Given the description of an element on the screen output the (x, y) to click on. 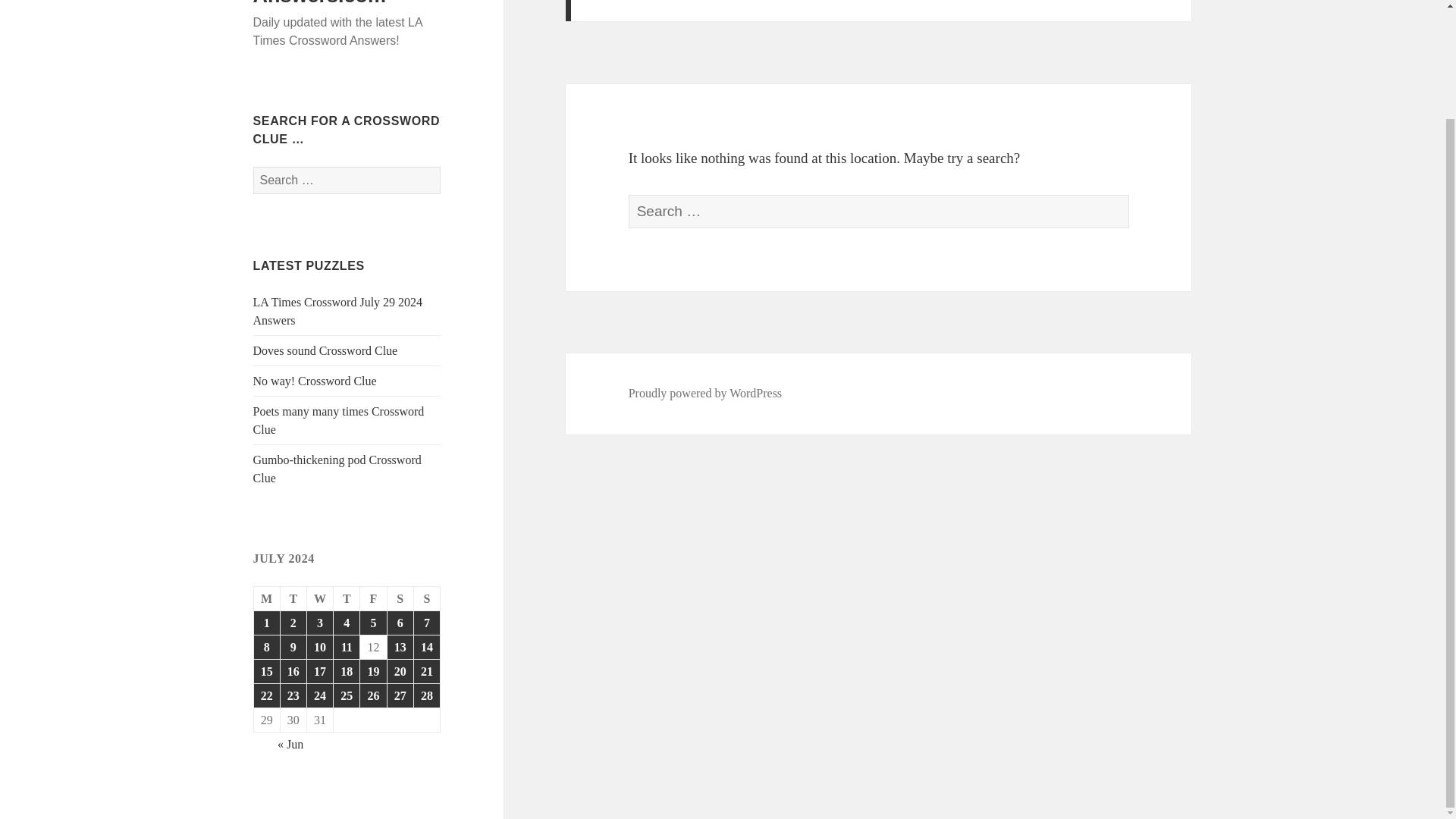
1 (266, 622)
23 (293, 695)
17 (320, 671)
21 (426, 671)
Friday (373, 598)
11 (346, 647)
6 (400, 622)
Saturday (400, 598)
Monday (267, 598)
Doves sound Crossword Clue (325, 350)
8 (266, 647)
4 (346, 622)
26 (372, 695)
